Given the description of an element on the screen output the (x, y) to click on. 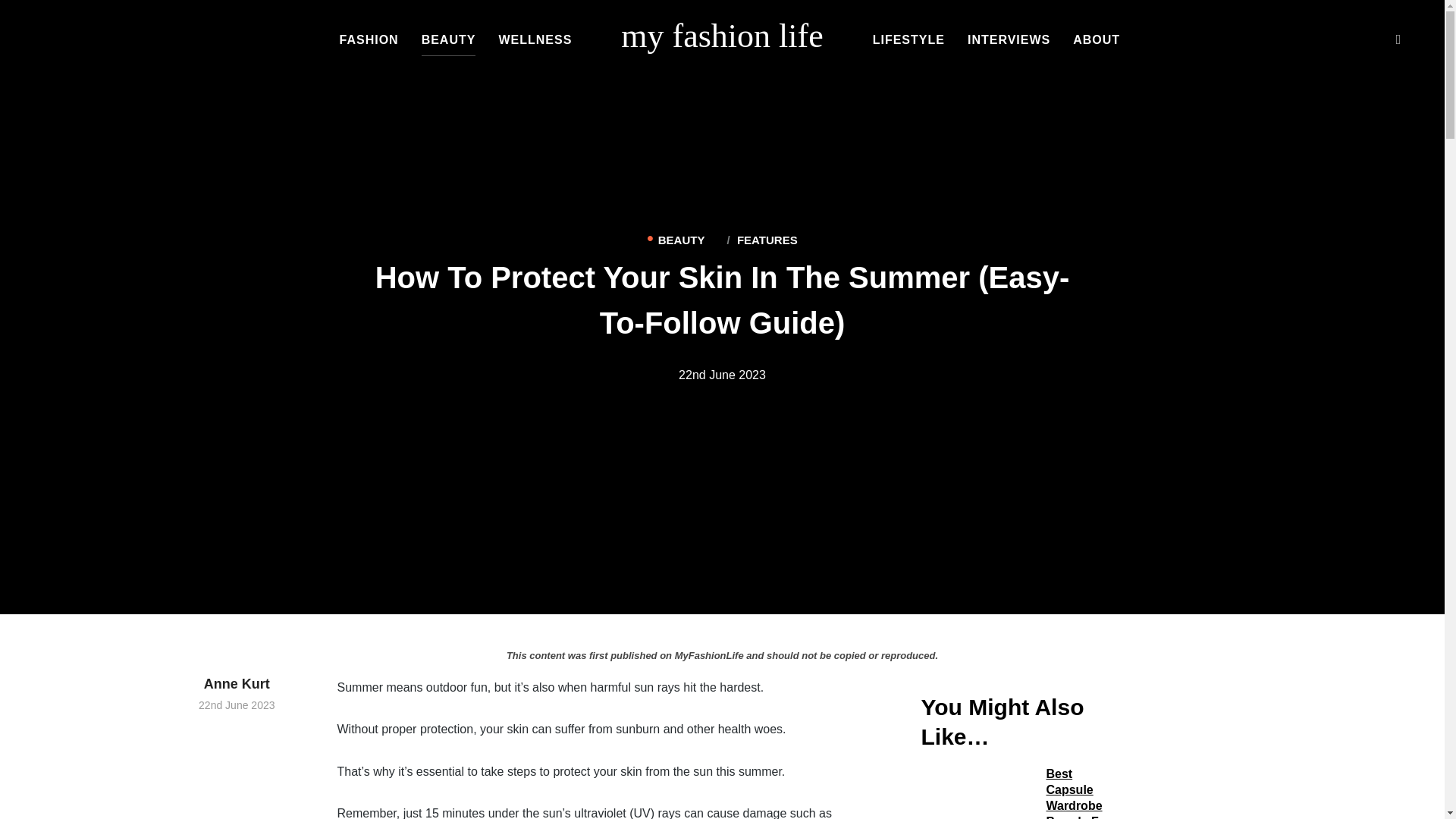
Posts by Anne Kurt (236, 684)
WELLNESS (534, 40)
BEAUTY (449, 40)
Fashion, Celebrities, Beauty, Food, Travel, Lifestyle (721, 35)
FASHION (368, 40)
my fashion life (721, 35)
LIFESTYLE (908, 40)
